Given the description of an element on the screen output the (x, y) to click on. 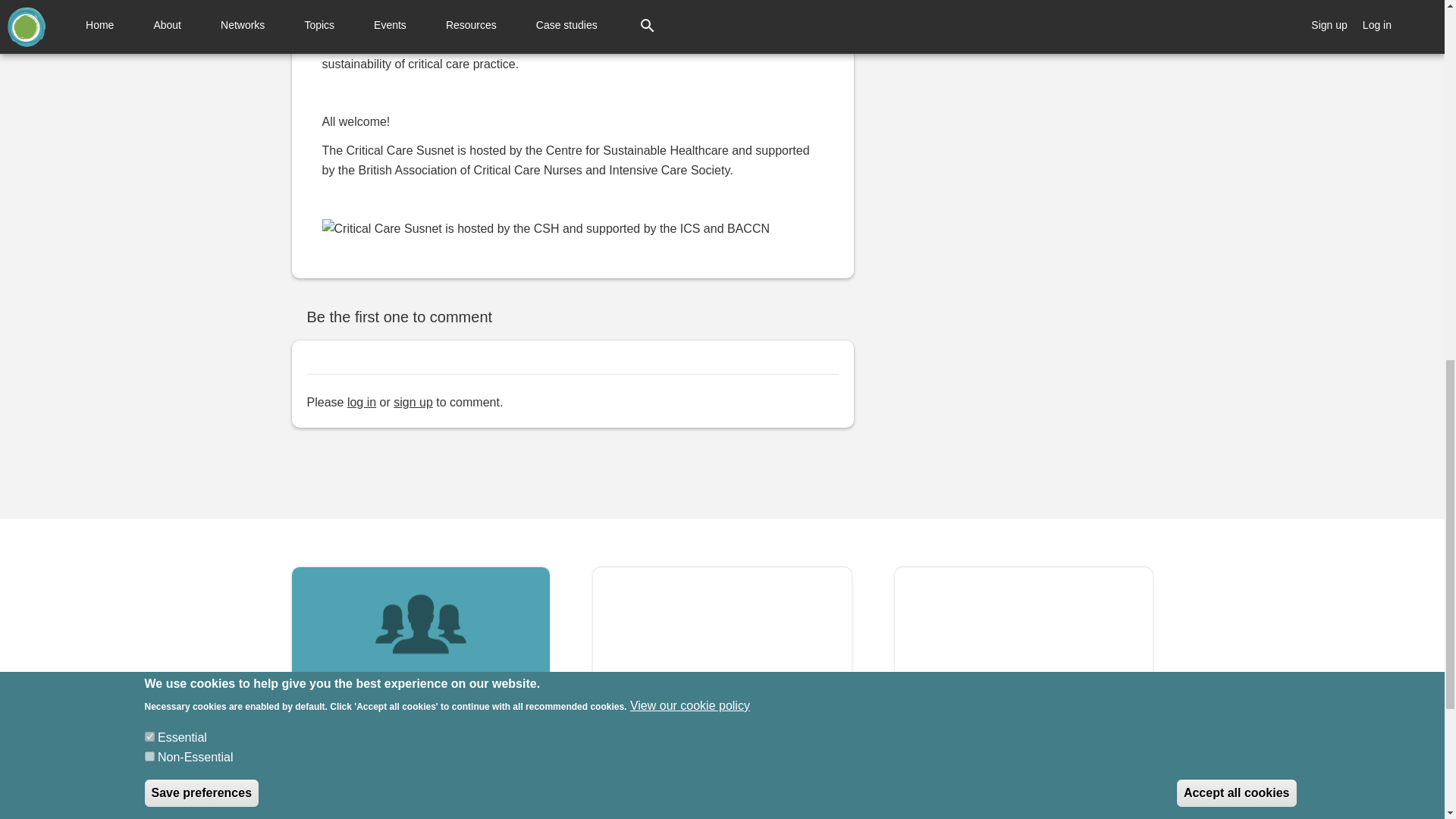
log in (361, 401)
Visit the resource library (721, 646)
Explore all networks (420, 646)
sign up (412, 401)
View events calendar (1024, 646)
